Given the description of an element on the screen output the (x, y) to click on. 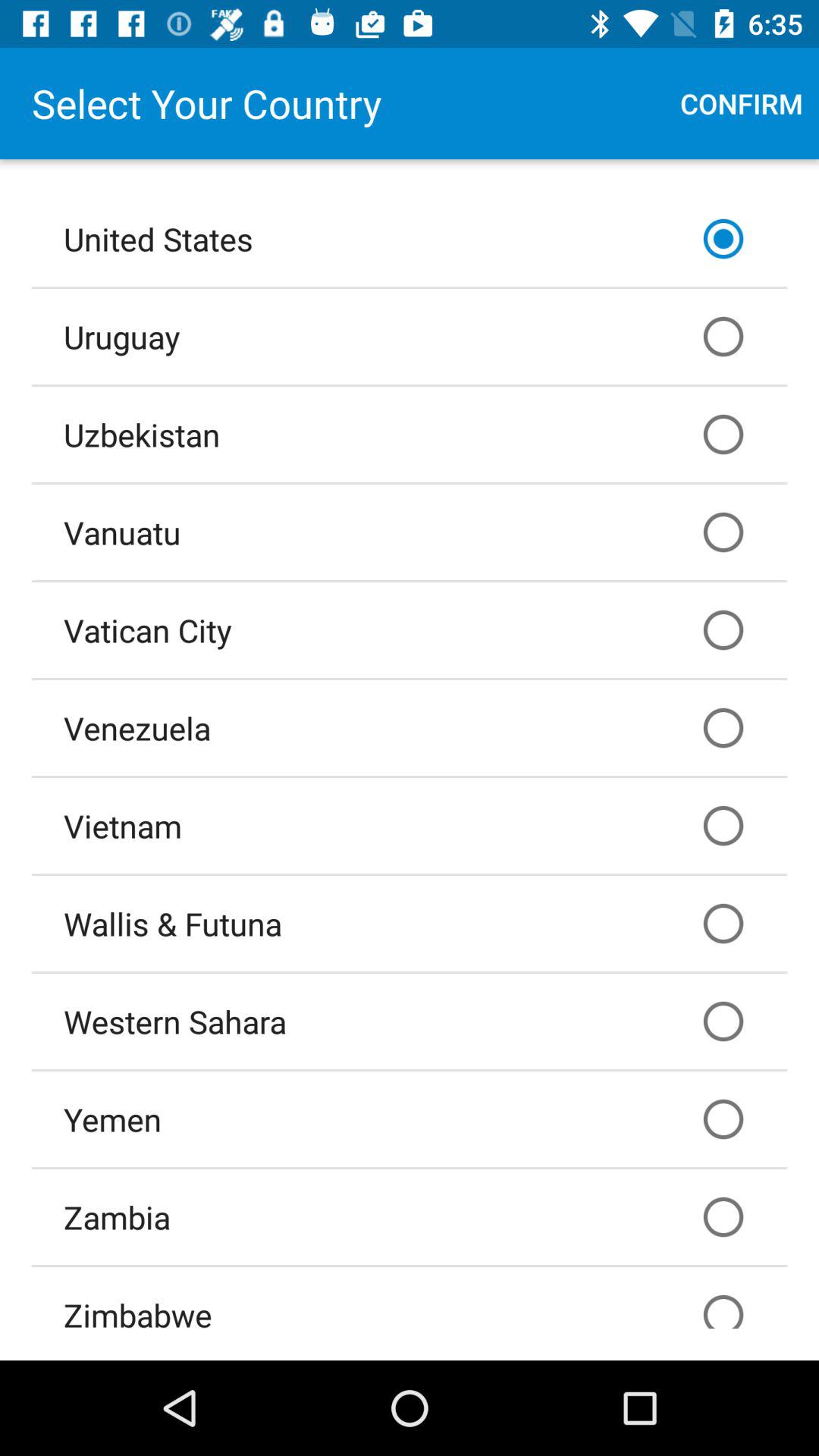
turn off item next to the select your country item (741, 103)
